Given the description of an element on the screen output the (x, y) to click on. 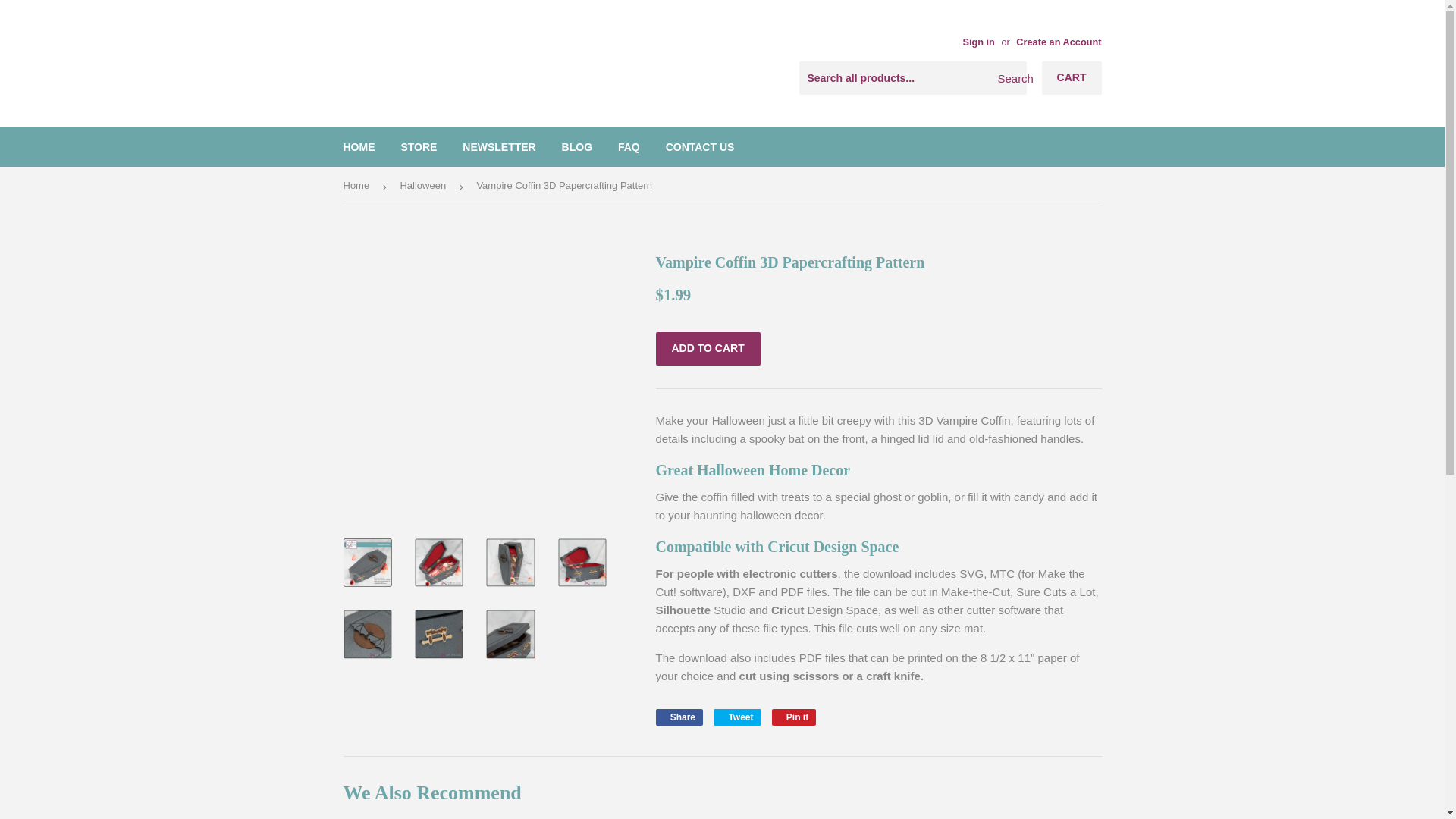
Search (1009, 79)
CART (1072, 78)
Tweet on Twitter (736, 716)
Create an Account (1058, 41)
Share on Facebook (679, 716)
Pin on Pinterest (793, 716)
Sign in (978, 41)
